Given the description of an element on the screen output the (x, y) to click on. 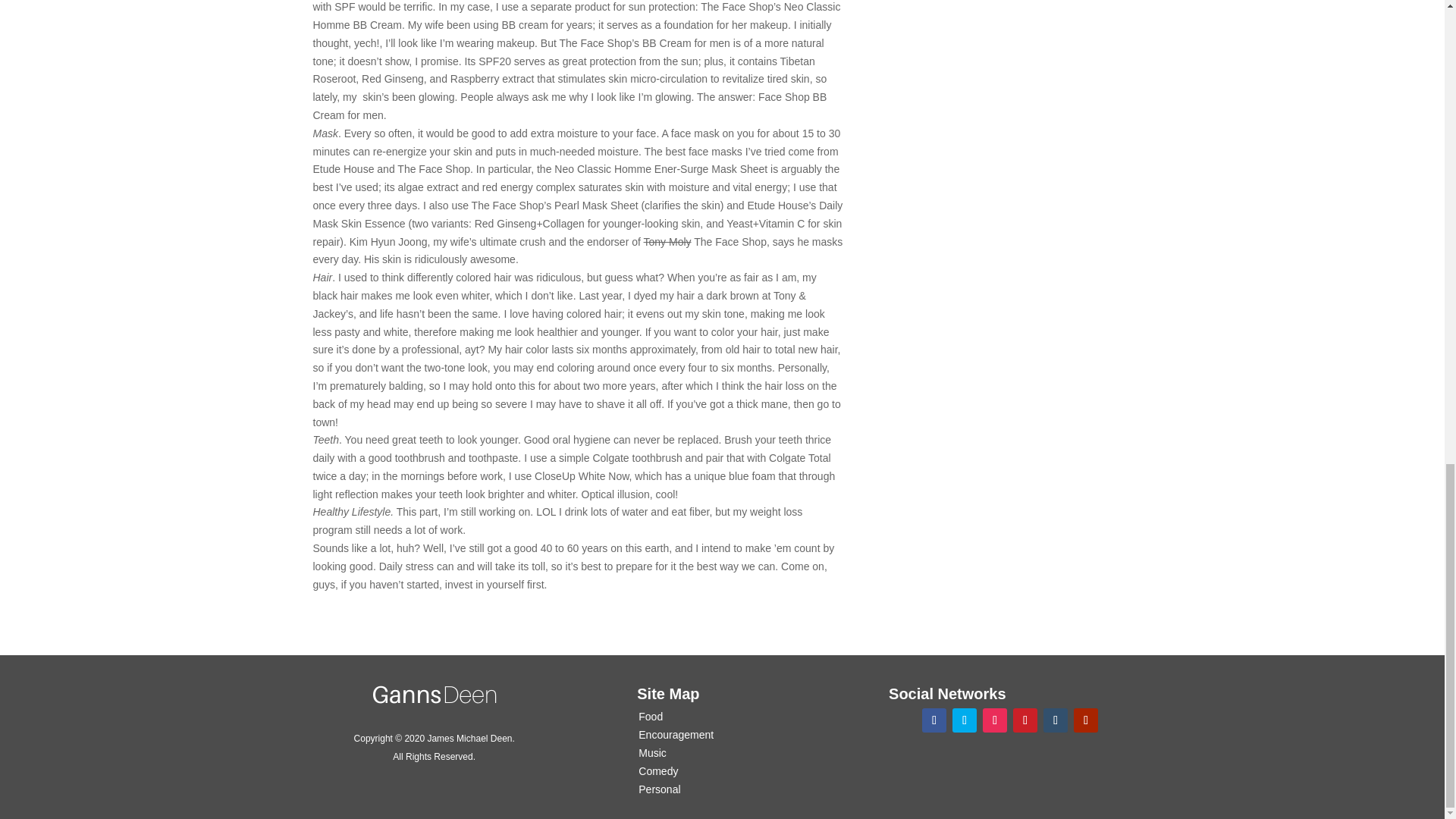
Follow on Youtube (1085, 720)
Comedy (658, 770)
Follow on tumblr (1055, 720)
Music (652, 752)
Personal (659, 788)
Follow on Twitter (964, 720)
Follow on Facebook (933, 720)
Food (650, 716)
Follow on Instagram (994, 720)
Encouragement (676, 734)
